Given the description of an element on the screen output the (x, y) to click on. 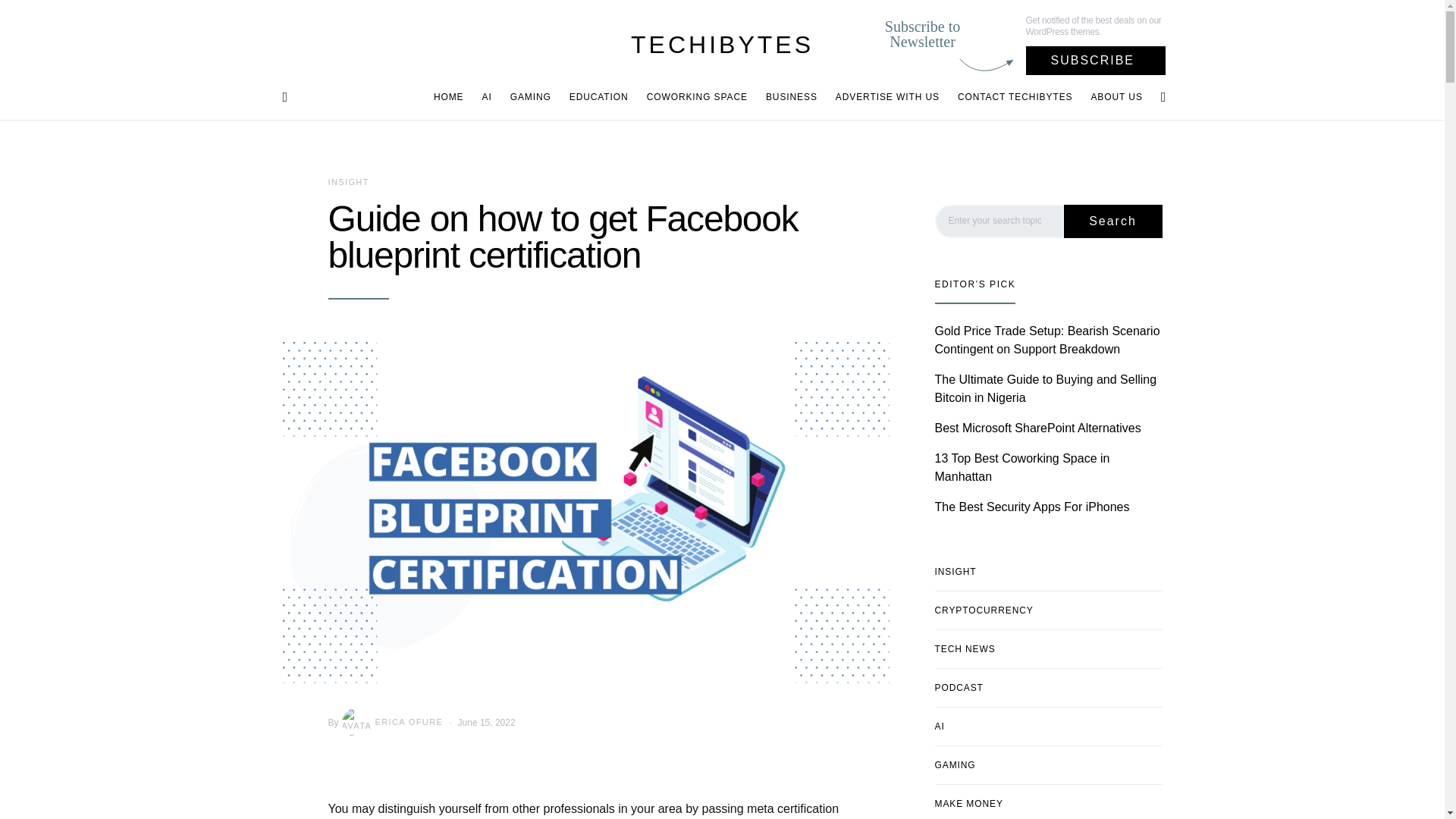
GAMING (530, 96)
ADVERTISE WITH US (888, 96)
BUSINESS (792, 96)
EDUCATION (598, 96)
View all posts by Erica Ofure (391, 722)
INSIGHT (347, 181)
CONTACT TECHIBYTES (1015, 96)
ERICA OFURE (391, 722)
SUBSCRIBE (1096, 60)
TECHIBYTES (721, 44)
COWORKING SPACE (697, 96)
ABOUT US (1111, 96)
